Given the description of an element on the screen output the (x, y) to click on. 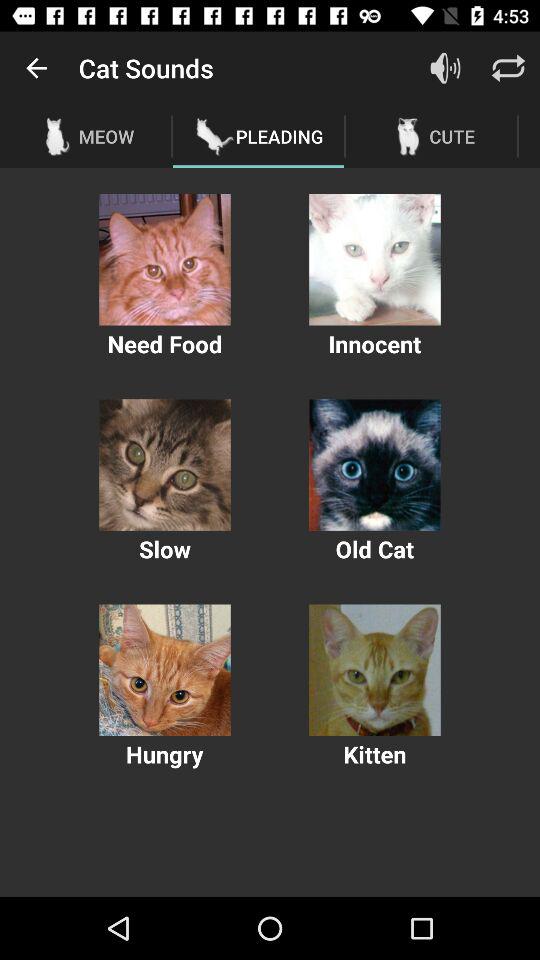
toggle reply option (508, 67)
